Given the description of an element on the screen output the (x, y) to click on. 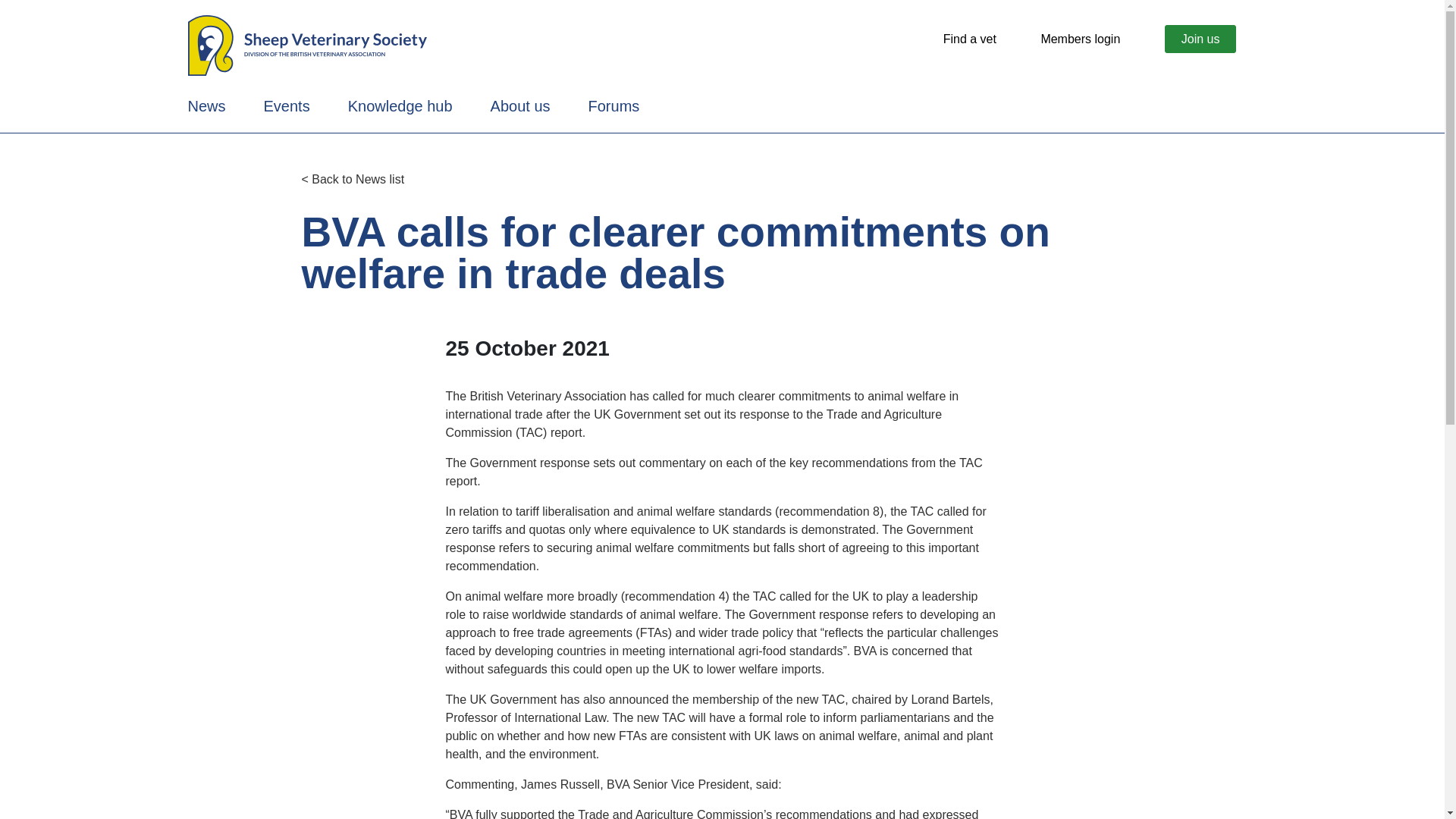
News (206, 105)
Members login (1080, 38)
Knowledge hub (399, 105)
Events (286, 105)
Join us (1200, 39)
About us (520, 105)
Go back to the home page (306, 44)
Find a vet (969, 38)
Forums (614, 105)
